Given the description of an element on the screen output the (x, y) to click on. 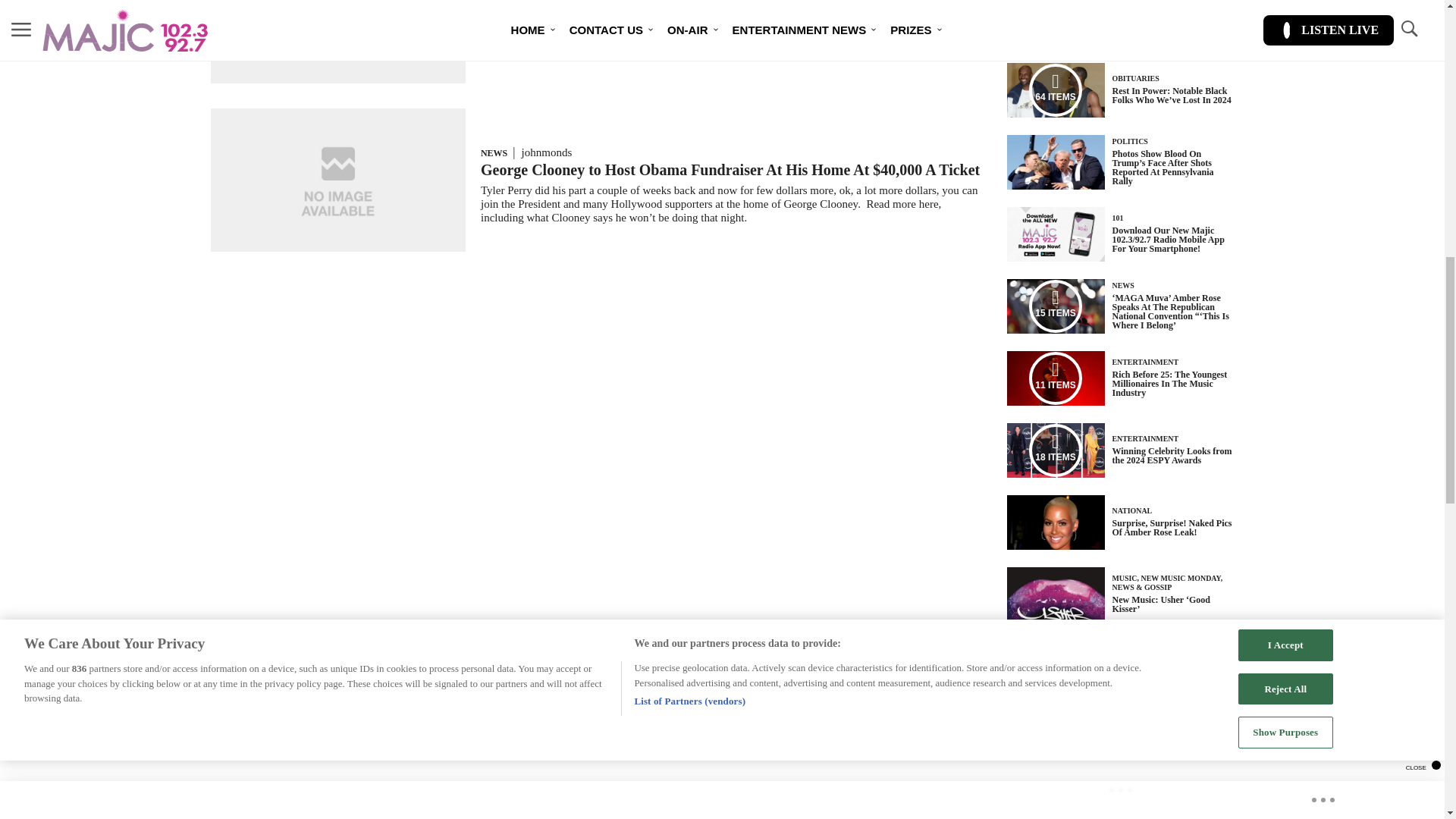
Media Playlist (1055, 450)
Media Playlist (1055, 306)
Media Playlist (1055, 90)
President Obama and First Lady Release Tax Returns (654, 7)
Media Playlist (1055, 378)
NEWS (493, 153)
